Given the description of an element on the screen output the (x, y) to click on. 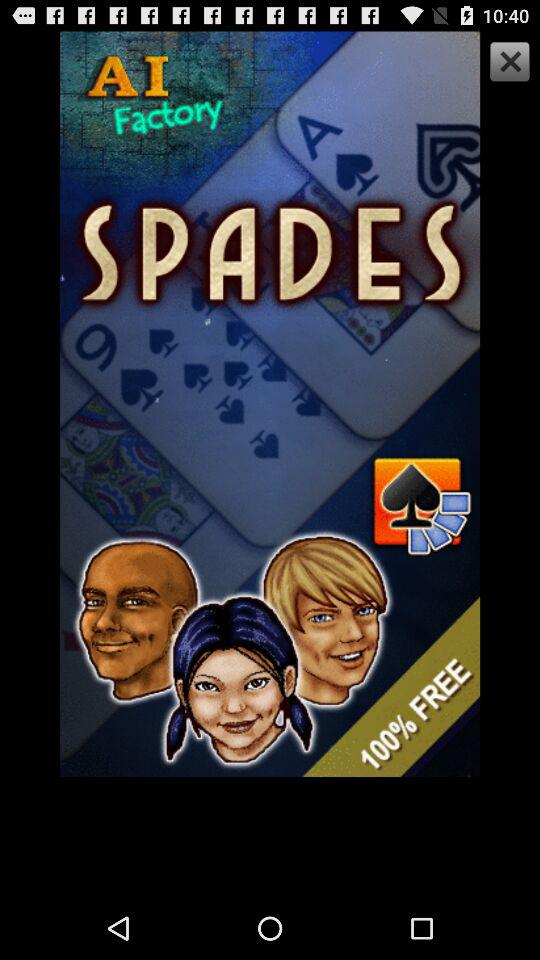
close the advertisements (507, 64)
